Given the description of an element on the screen output the (x, y) to click on. 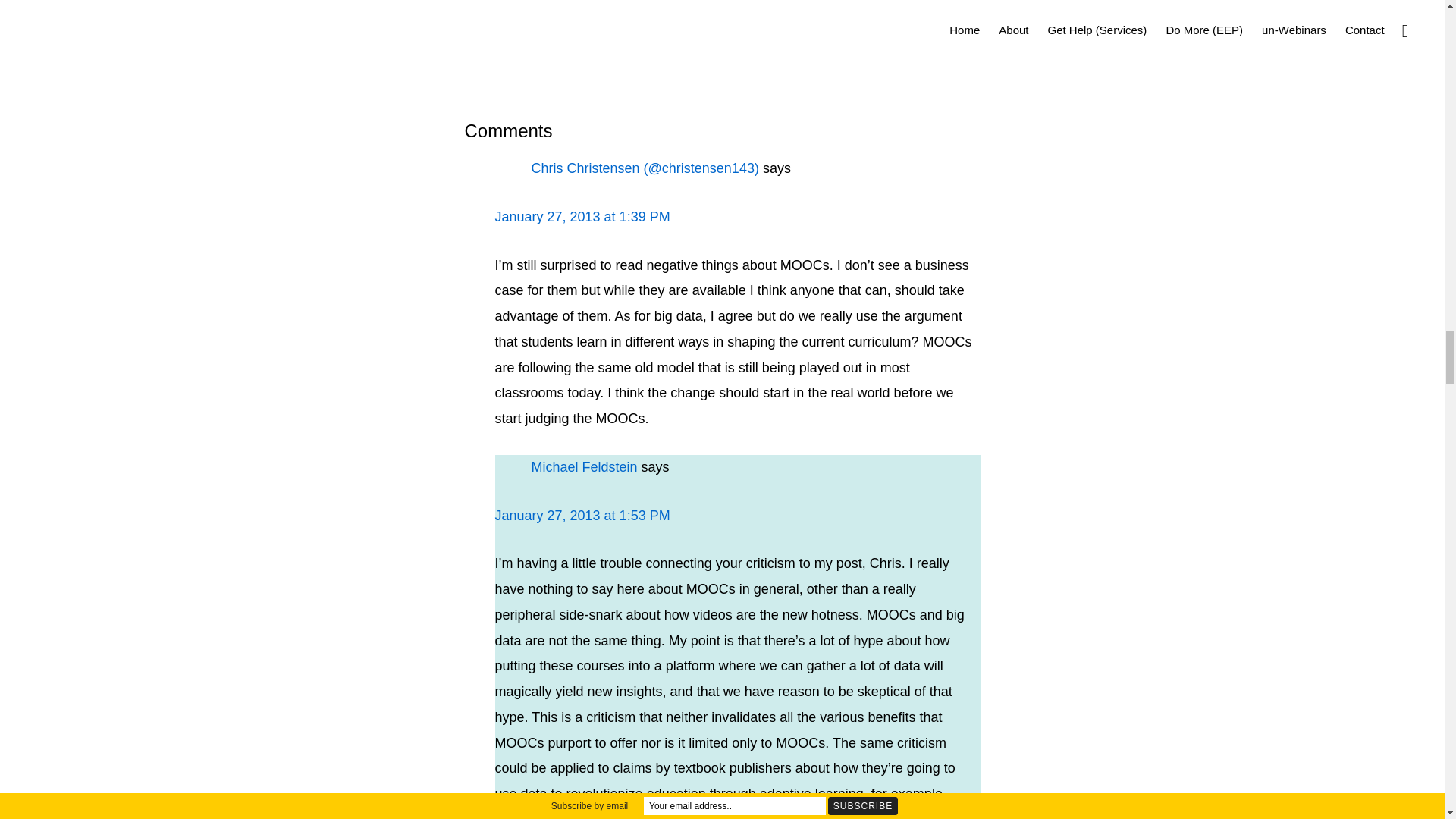
Massive open online course (753, 32)
January 27, 2013 at 1:53 PM (582, 515)
learning-design (534, 32)
MOOC (602, 32)
big data (649, 32)
Derek Muller (869, 32)
January 27, 2013 at 1:39 PM (582, 216)
Michael Feldstein (584, 467)
